Given the description of an element on the screen output the (x, y) to click on. 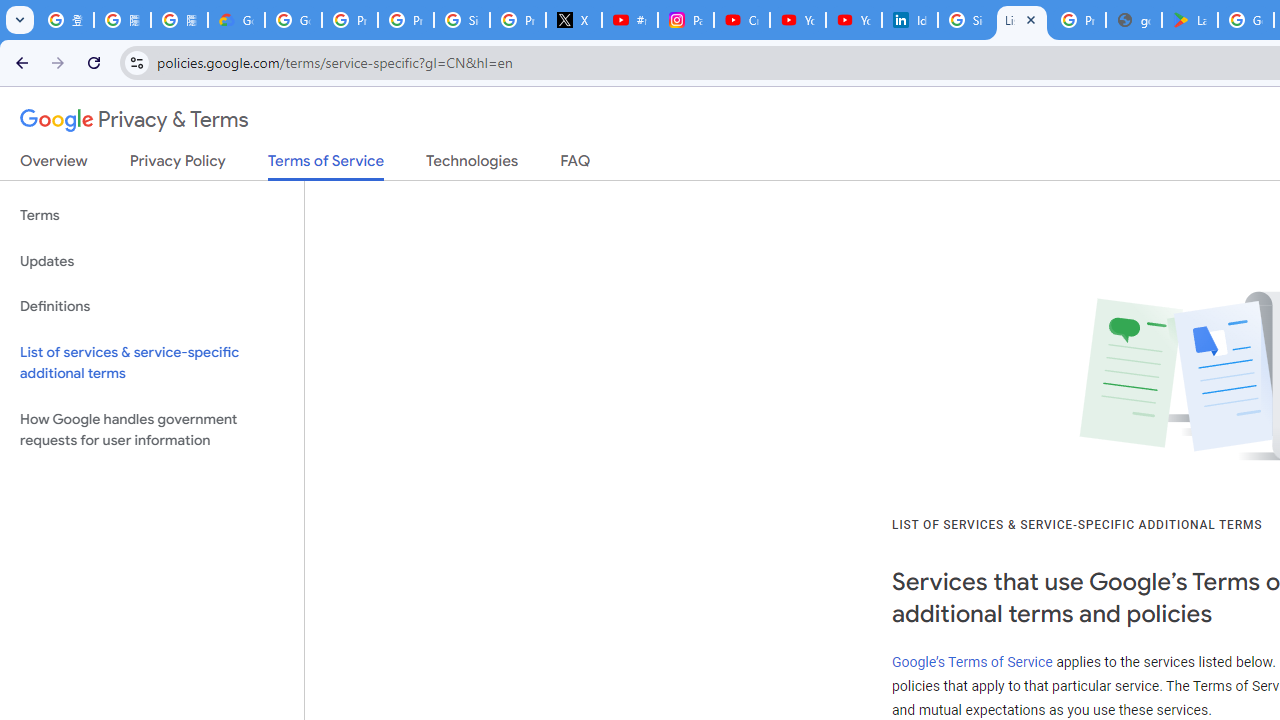
Definitions (152, 306)
YouTube Culture & Trends - YouTube Top 10, 2021 (853, 20)
